Given the description of an element on the screen output the (x, y) to click on. 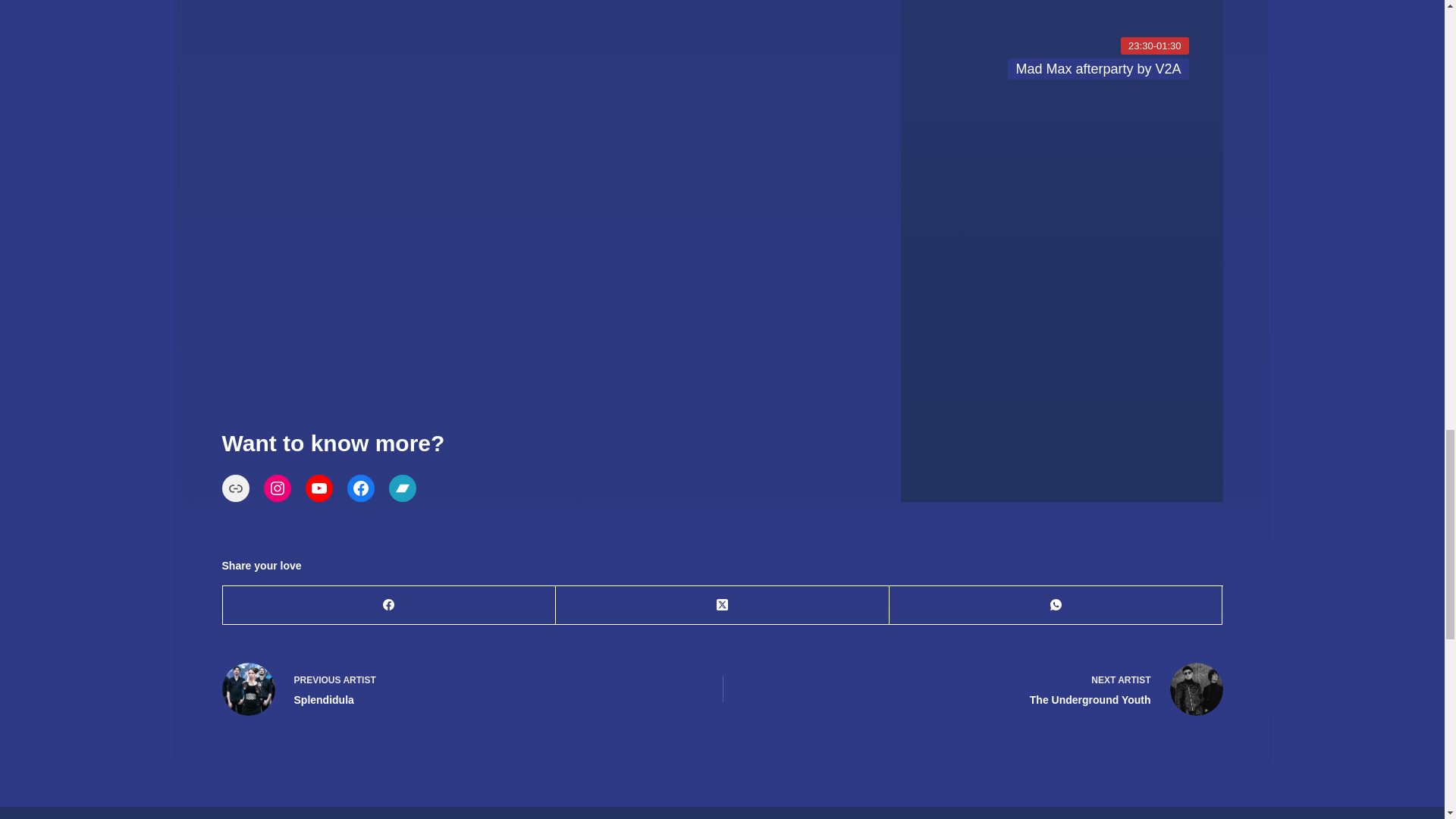
YouTube (319, 488)
Mad Max afterparty by V2A (1061, 45)
Link (234, 488)
Instagram (277, 488)
